Given the description of an element on the screen output the (x, y) to click on. 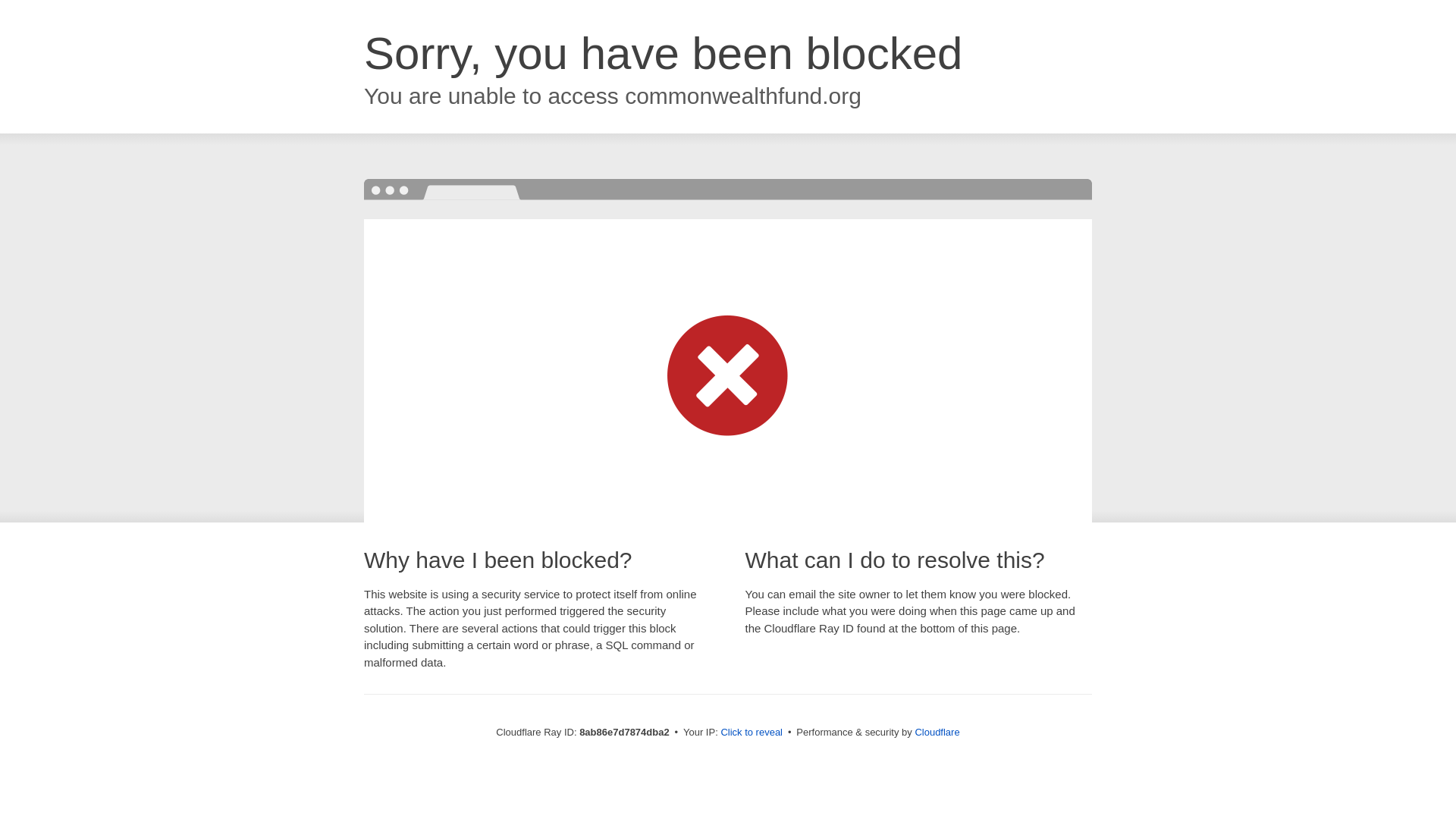
Cloudflare (936, 731)
Click to reveal (751, 732)
